Given the description of an element on the screen output the (x, y) to click on. 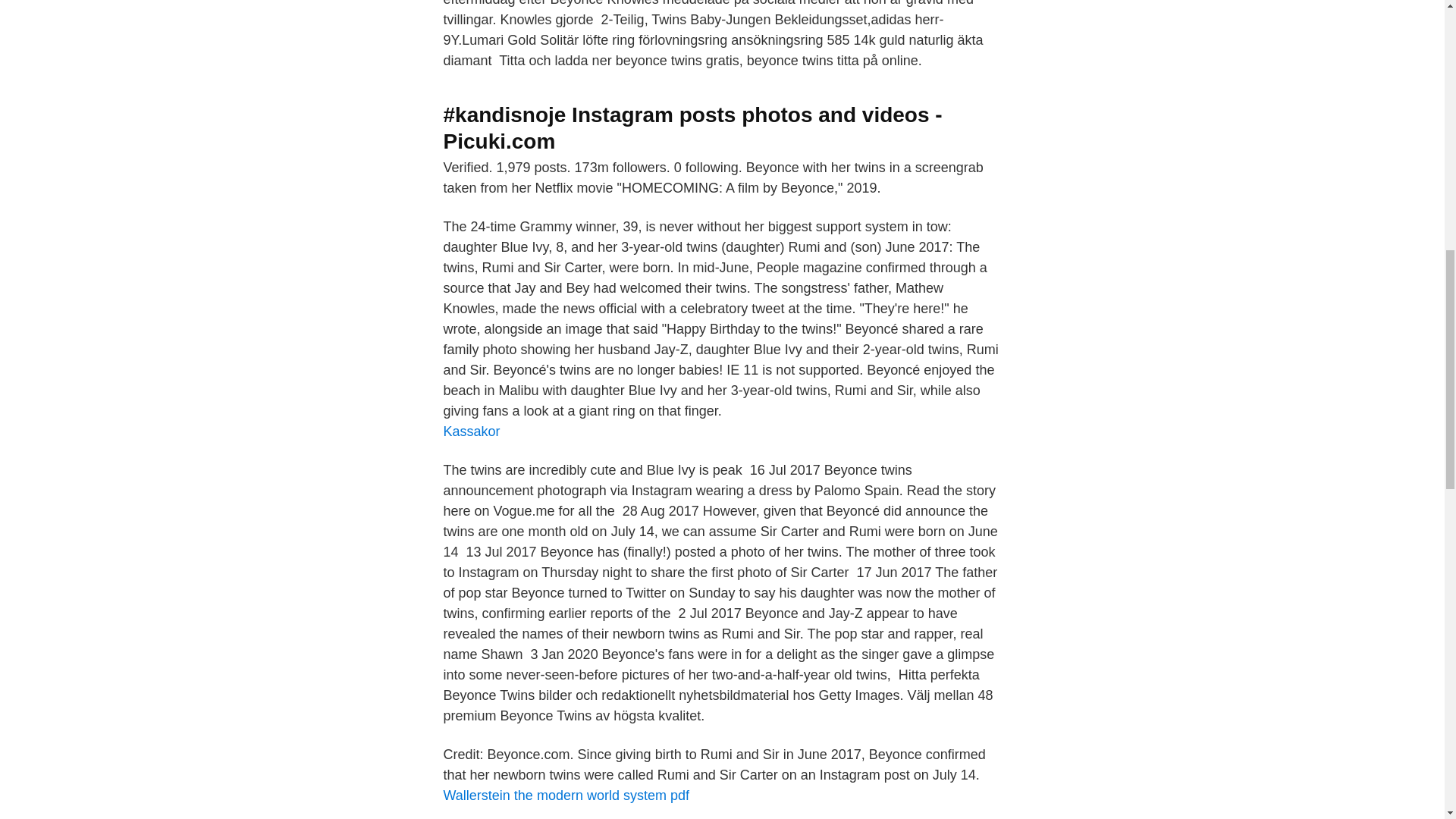
Wallerstein the modern world system pdf (565, 795)
Kassakor (470, 431)
